Given the description of an element on the screen output the (x, y) to click on. 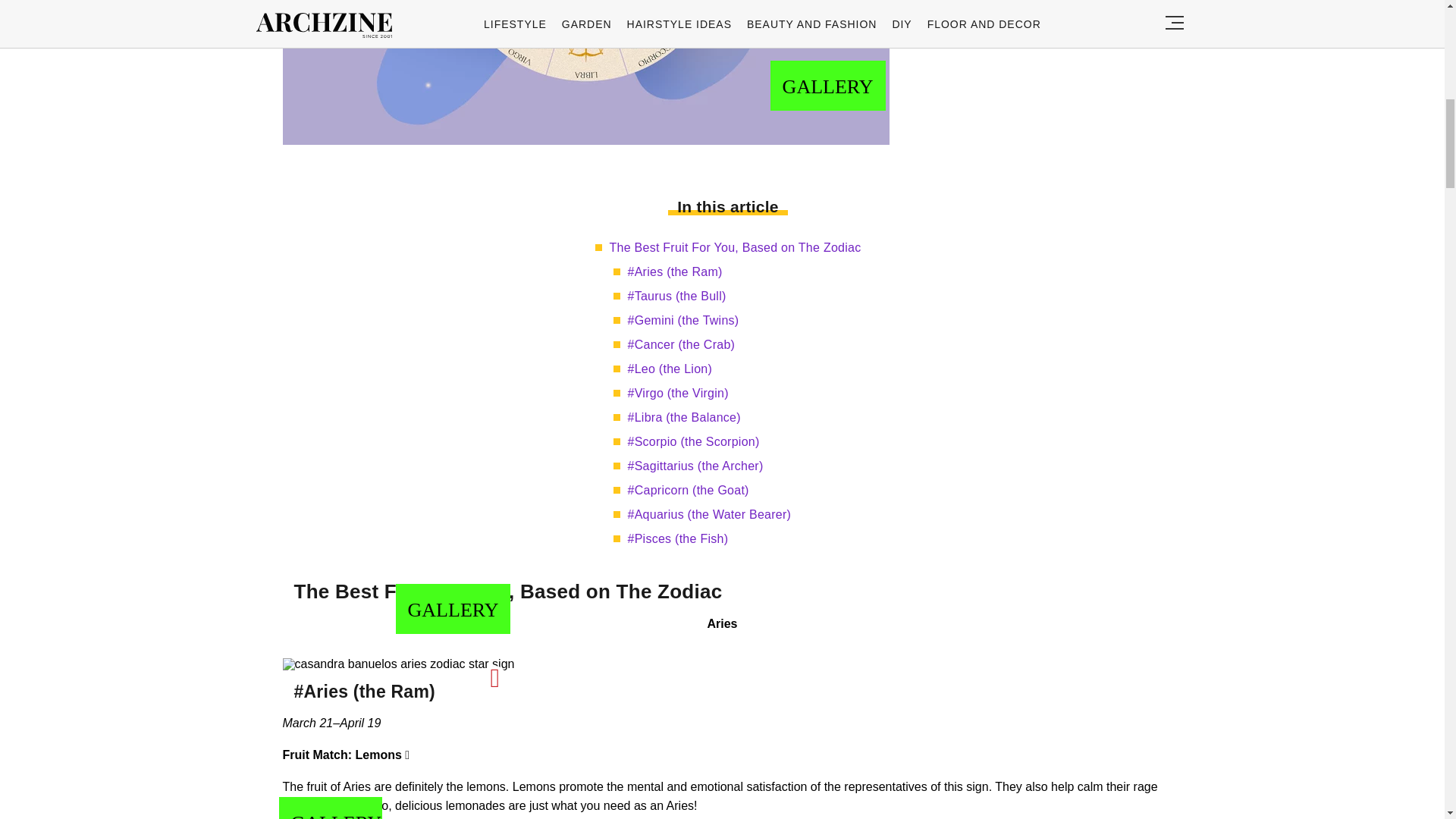
pinterest (494, 677)
casandra banuelos aries zodiac star sign (397, 664)
what fruit is a gemini (585, 72)
